Given the description of an element on the screen output the (x, y) to click on. 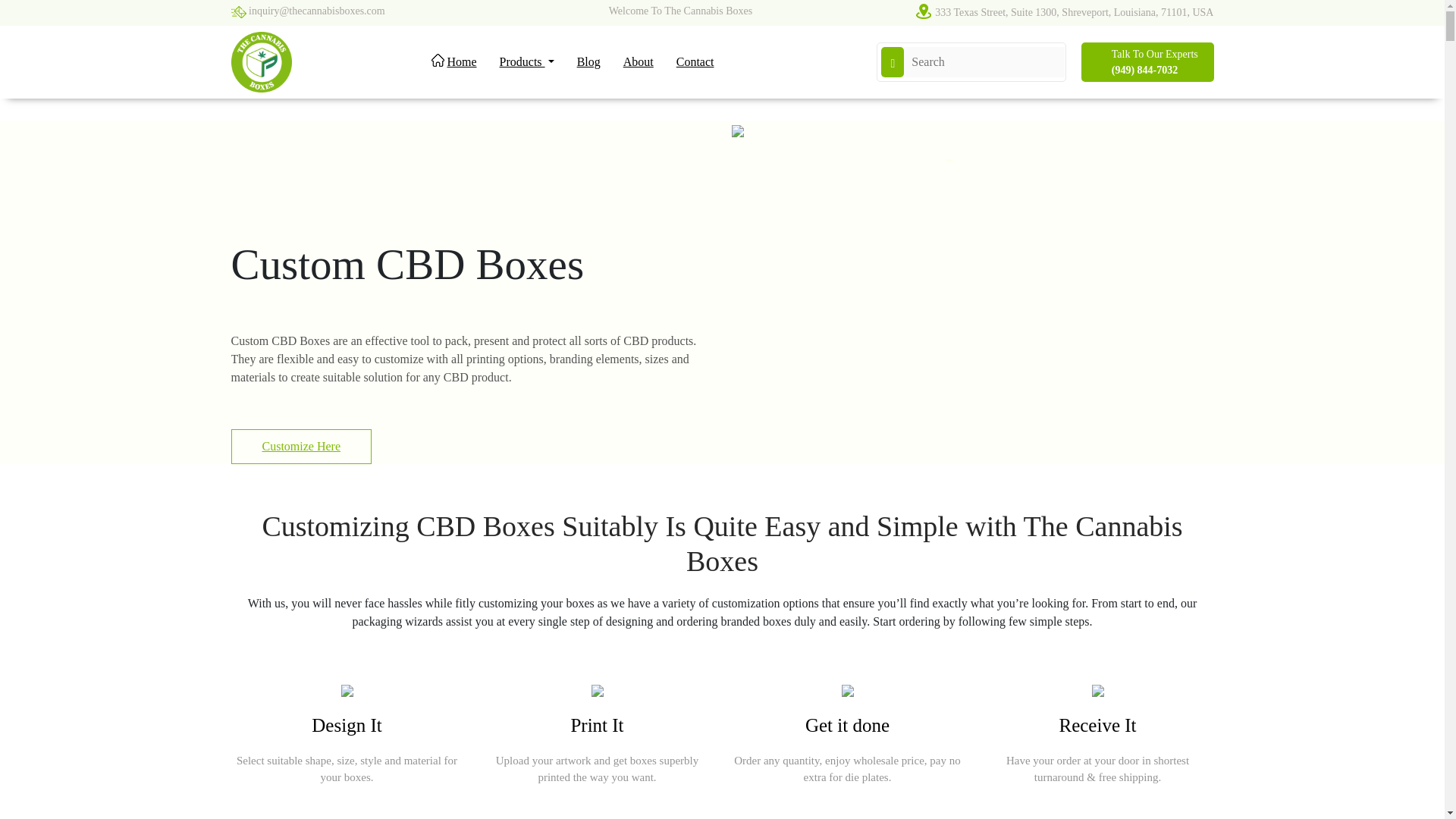
Omega Replica (1015, 175)
AP Replica (1003, 175)
Customize Here (300, 446)
Products (526, 62)
About (638, 62)
Search for: (984, 61)
Blog (587, 62)
Contact (695, 62)
Home (453, 62)
Fake Rolex (1007, 175)
